Given the description of an element on the screen output the (x, y) to click on. 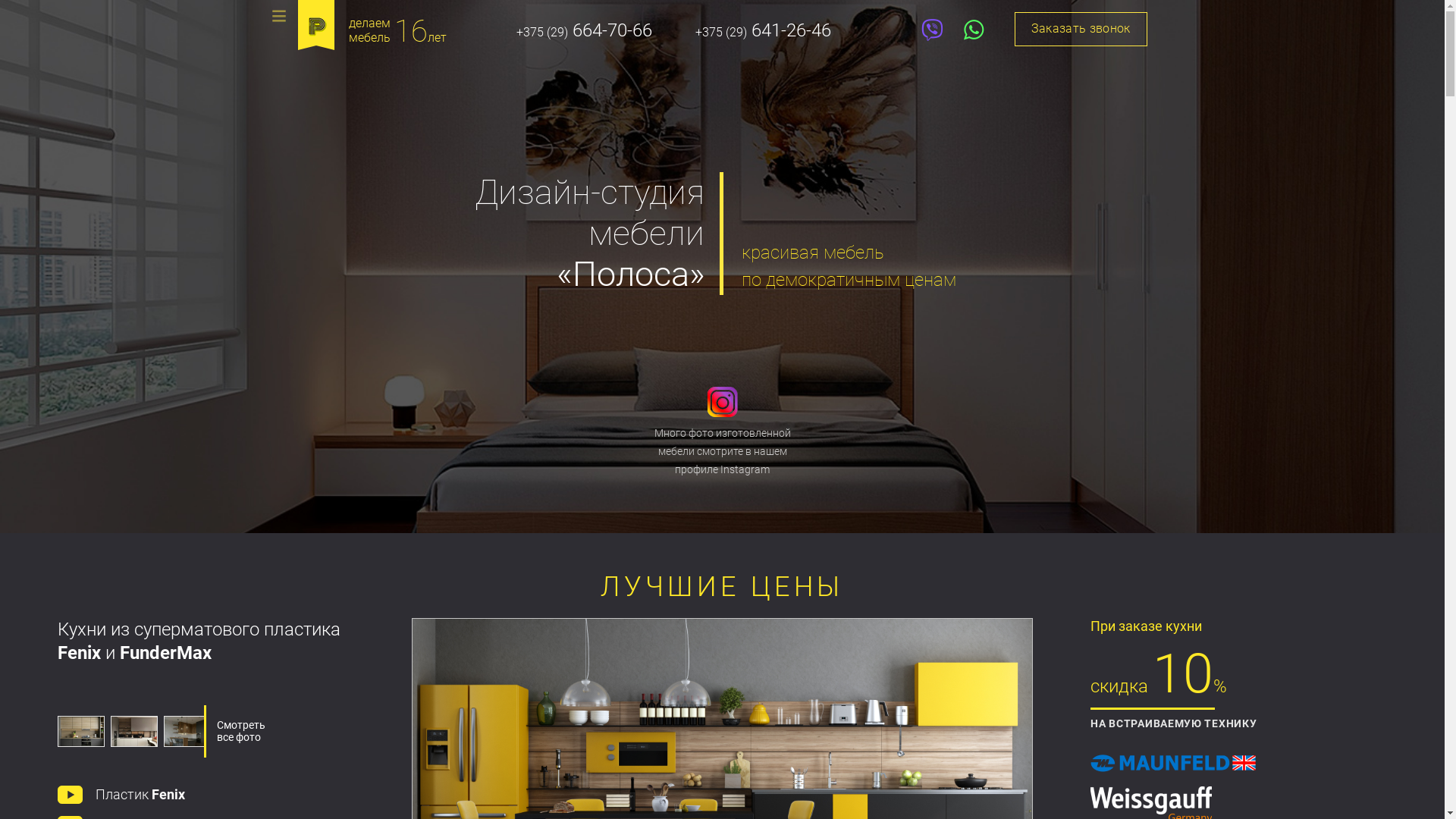
+375 (29) 641-26-46 Element type: text (762, 30)
+375 (29) 664-70-66 Element type: text (583, 30)
